Given the description of an element on the screen output the (x, y) to click on. 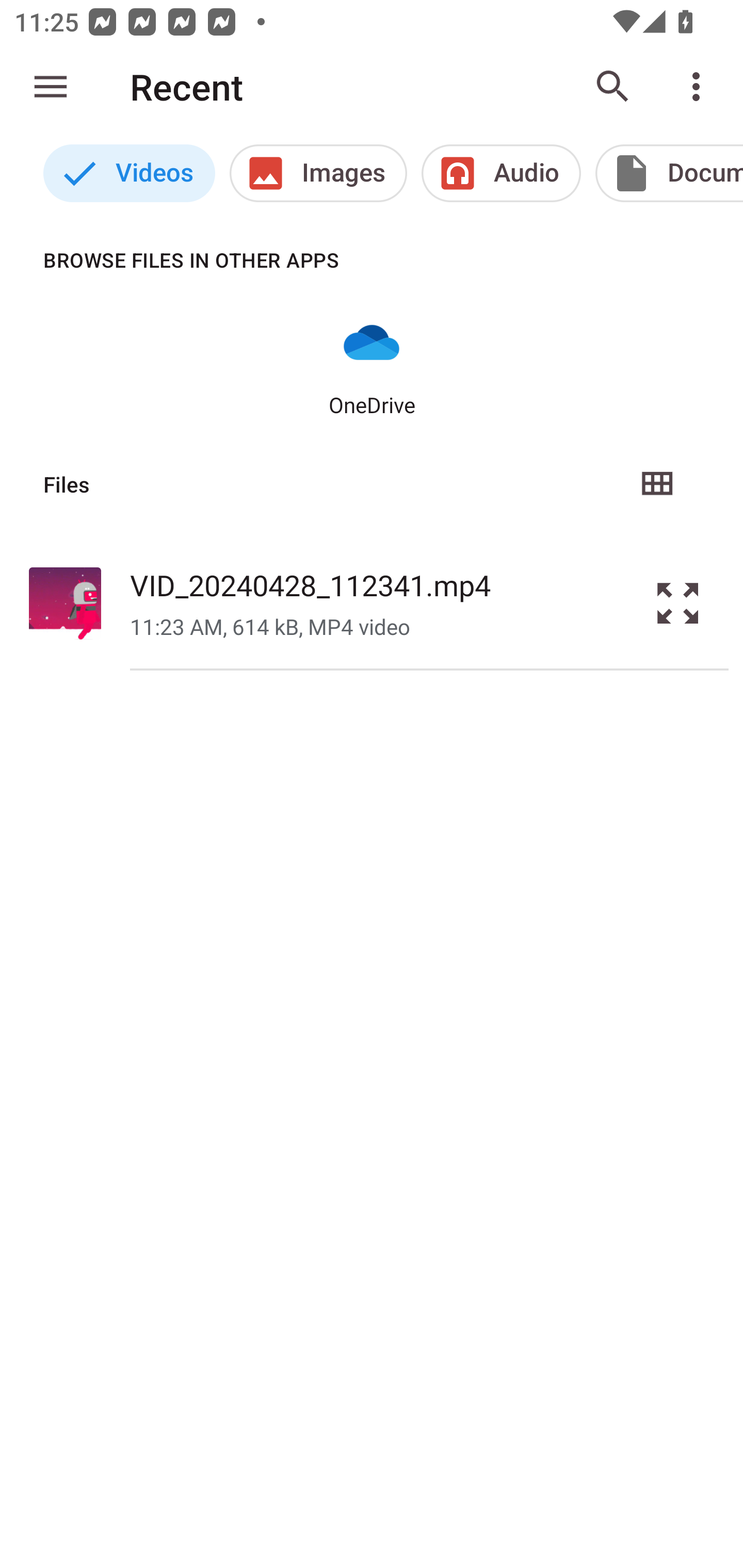
Show roots (50, 86)
Search (612, 86)
More options (699, 86)
Videos (129, 173)
Images (318, 173)
Audio (501, 173)
Documents (669, 173)
OneDrive (371, 365)
Grid view (655, 484)
Preview the file VID_20240428_112341.mp4 (677, 602)
